Given the description of an element on the screen output the (x, y) to click on. 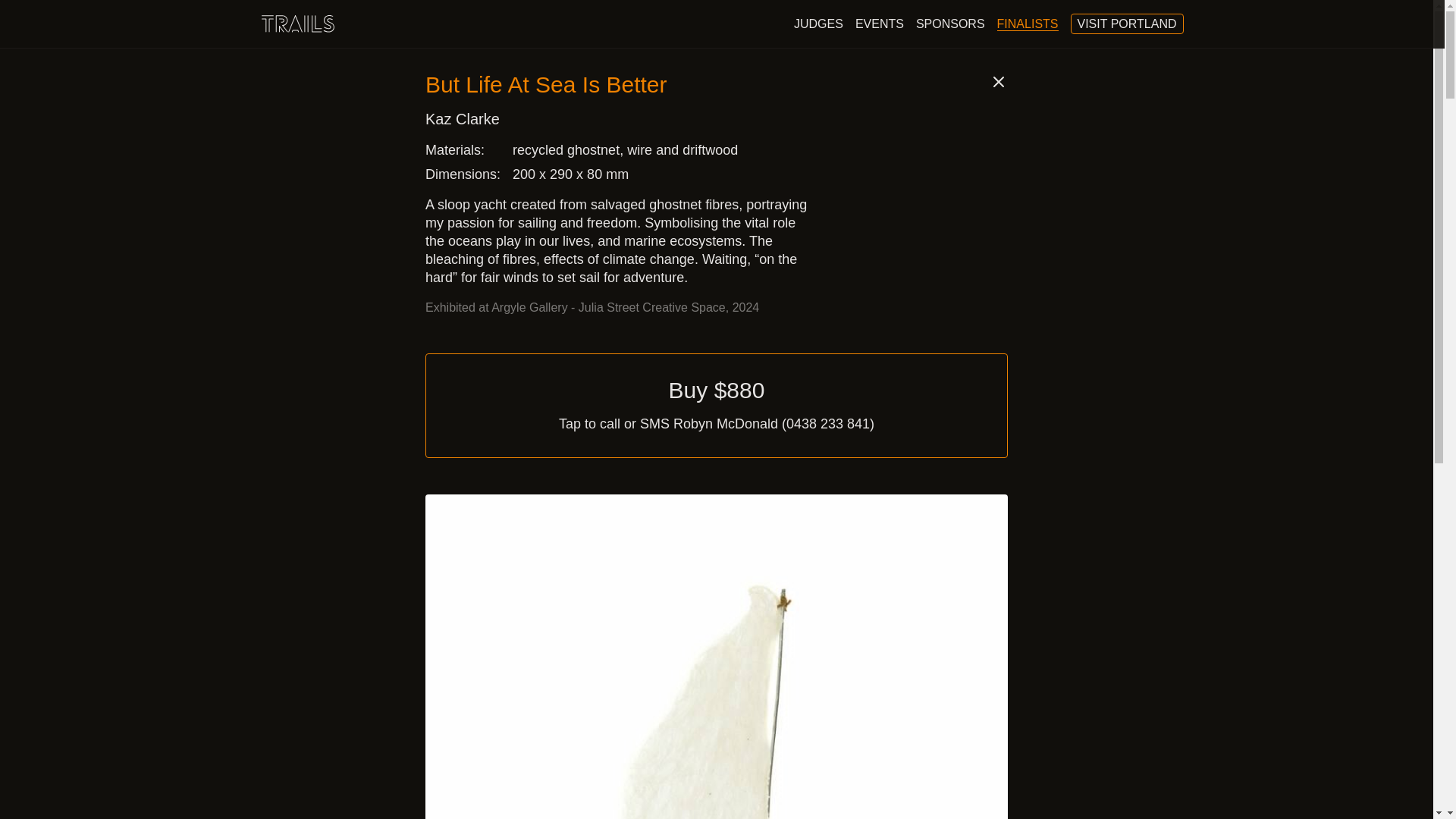
View Reef Requiem details (918, 733)
SPONSORS (950, 22)
View Whale Fall details (818, 22)
FINALISTS (1126, 23)
EVENTS (1027, 23)
View Island series: Endeavours details (880, 22)
